Given the description of an element on the screen output the (x, y) to click on. 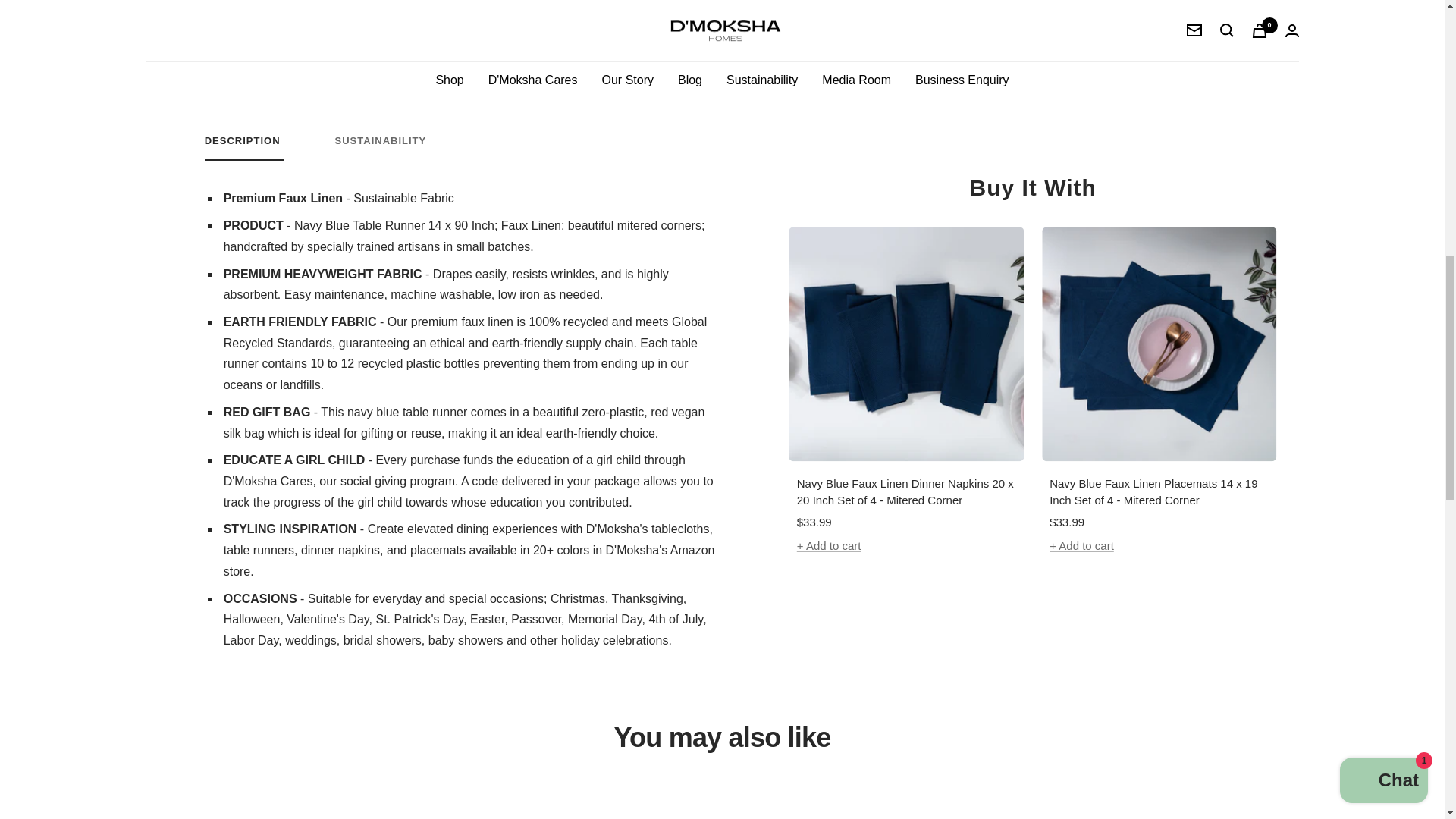
Navy Blue (1076, 12)
Brown (1034, 47)
Sage Green (1201, 12)
Light Blue (1118, 12)
Natural (463, 147)
Purple (1034, 12)
Orange (992, 47)
Mustard (951, 47)
 Ivory (908, 47)
Charcoal Grey (992, 12)
Black (463, 147)
Red (908, 12)
Dusty Pink (867, 12)
